Given the description of an element on the screen output the (x, y) to click on. 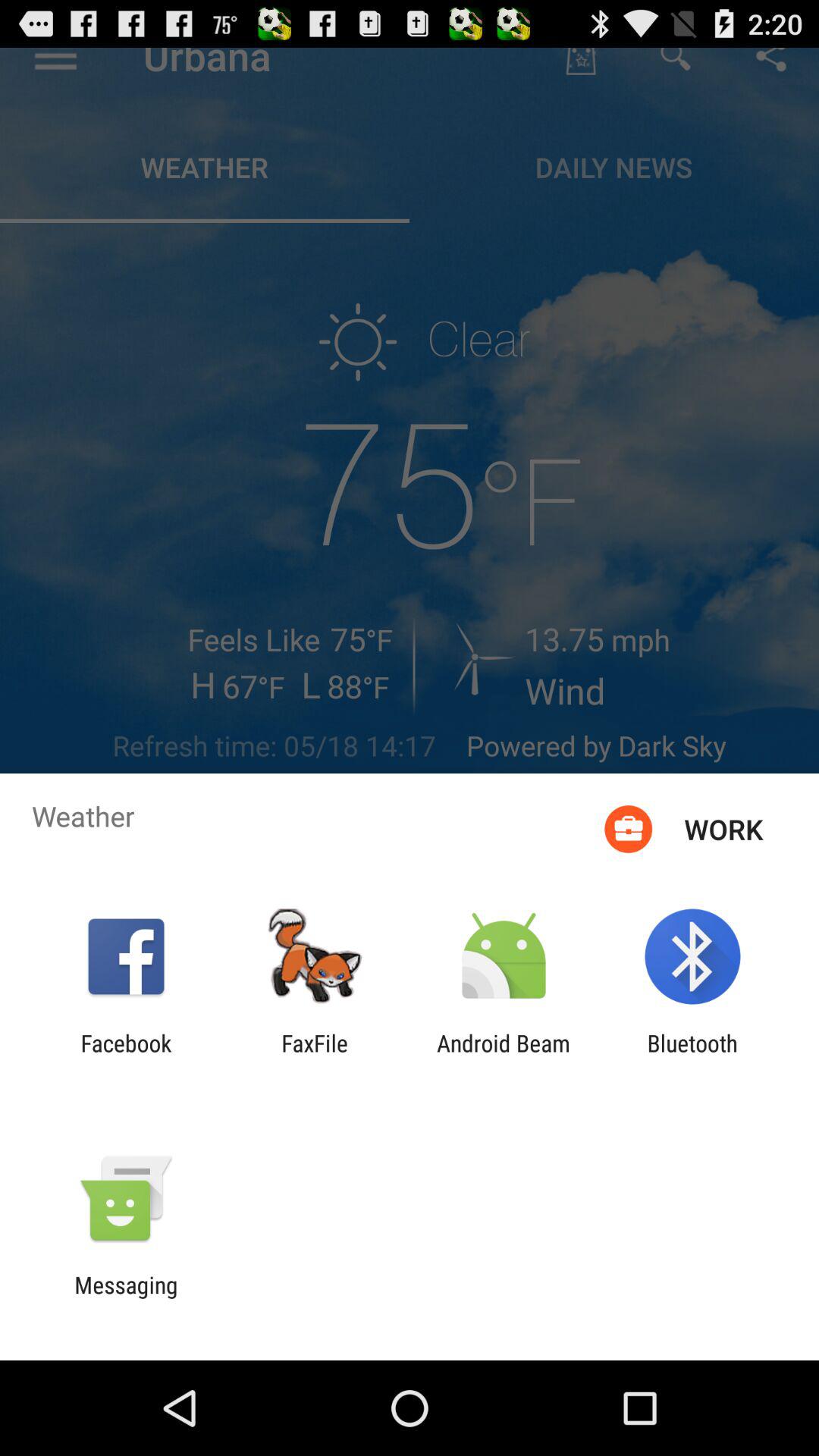
launch the bluetooth at the bottom right corner (692, 1056)
